Given the description of an element on the screen output the (x, y) to click on. 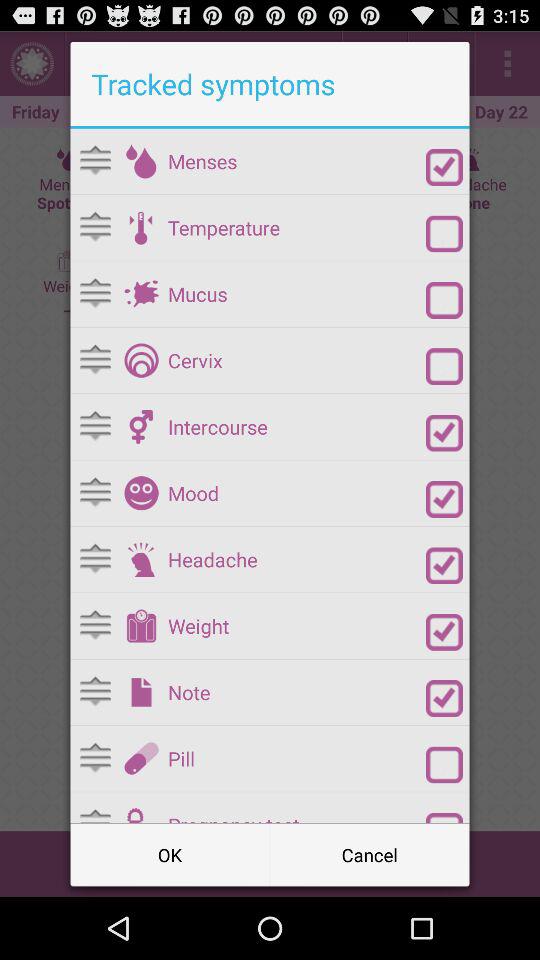
toggle for intercourse as symptom (444, 432)
